Given the description of an element on the screen output the (x, y) to click on. 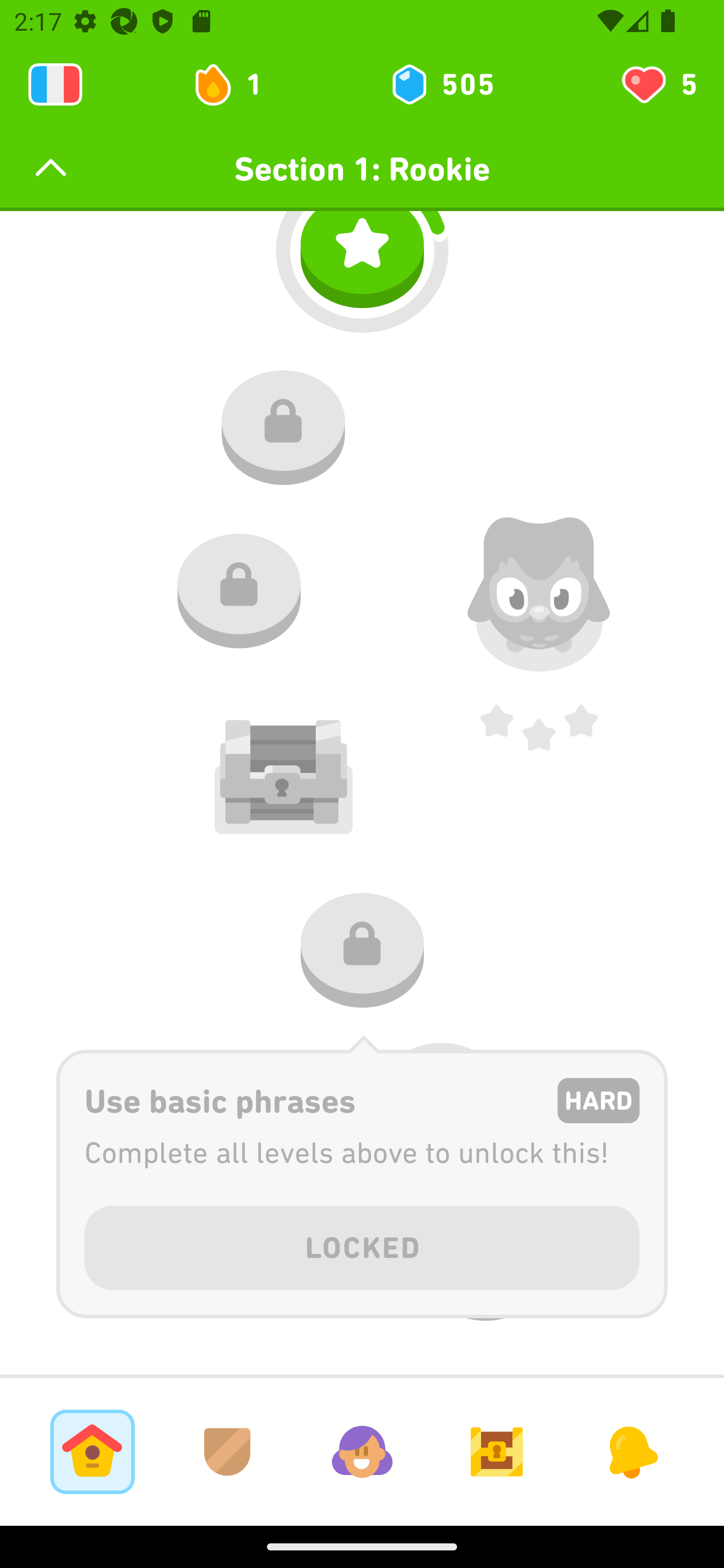
Learning 2131888976 (55, 84)
1 day streak 1 (236, 84)
505 (441, 84)
You have 5 hearts left 5 (657, 84)
Section 1: Rookie (362, 169)
LOCKED (361, 1243)
Learn Tab (91, 1451)
Leagues Tab (227, 1451)
Profile Tab (361, 1451)
Goals Tab (496, 1451)
News Tab (631, 1451)
